Given the description of an element on the screen output the (x, y) to click on. 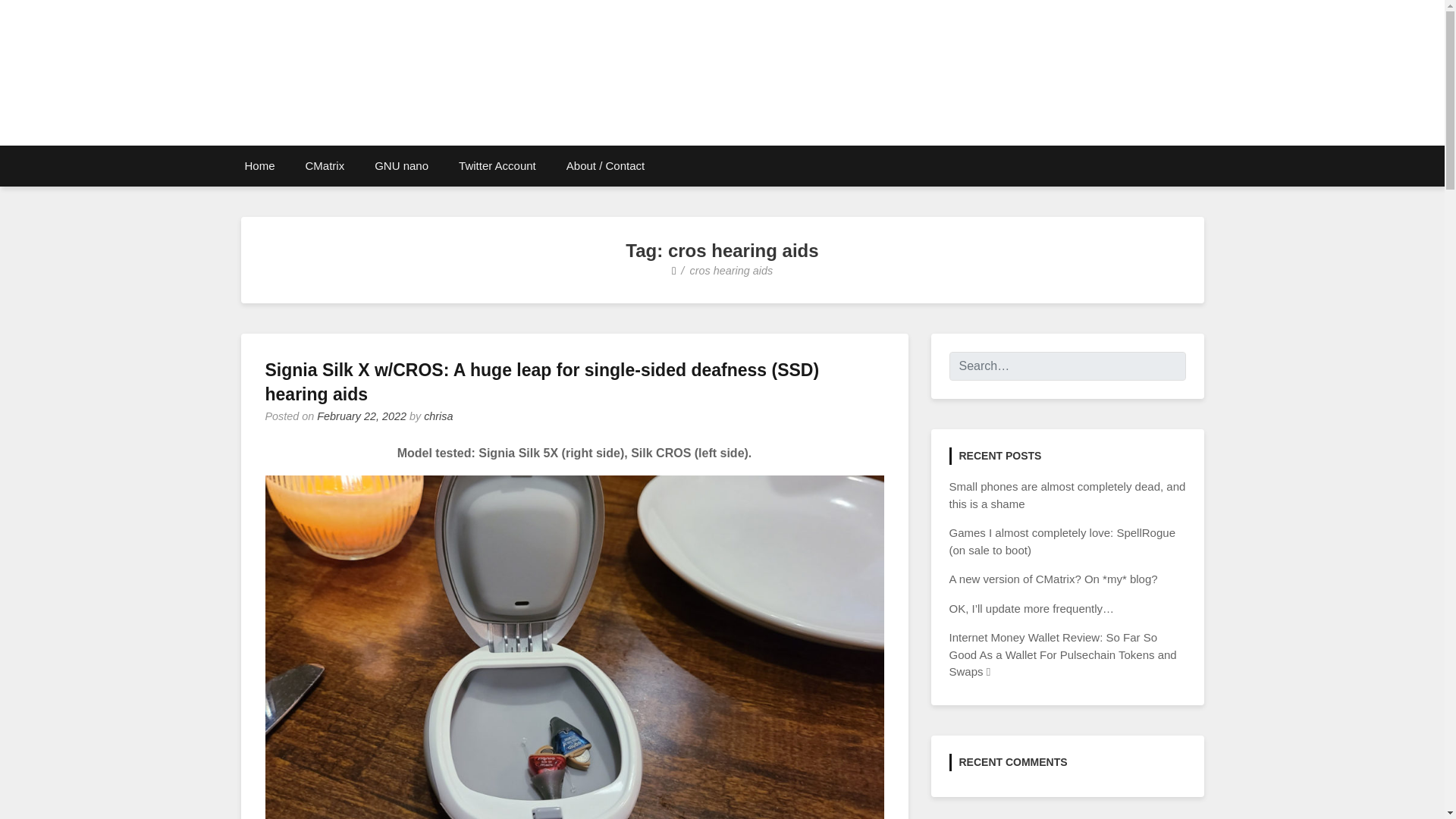
CMatrix (324, 165)
Twitter Account (497, 165)
February 22, 2022 (361, 416)
chrisa (437, 416)
Small phones are almost completely dead, and this is a shame (1067, 494)
asty.org (301, 133)
GNU nano (401, 165)
Home (258, 165)
